Given the description of an element on the screen output the (x, y) to click on. 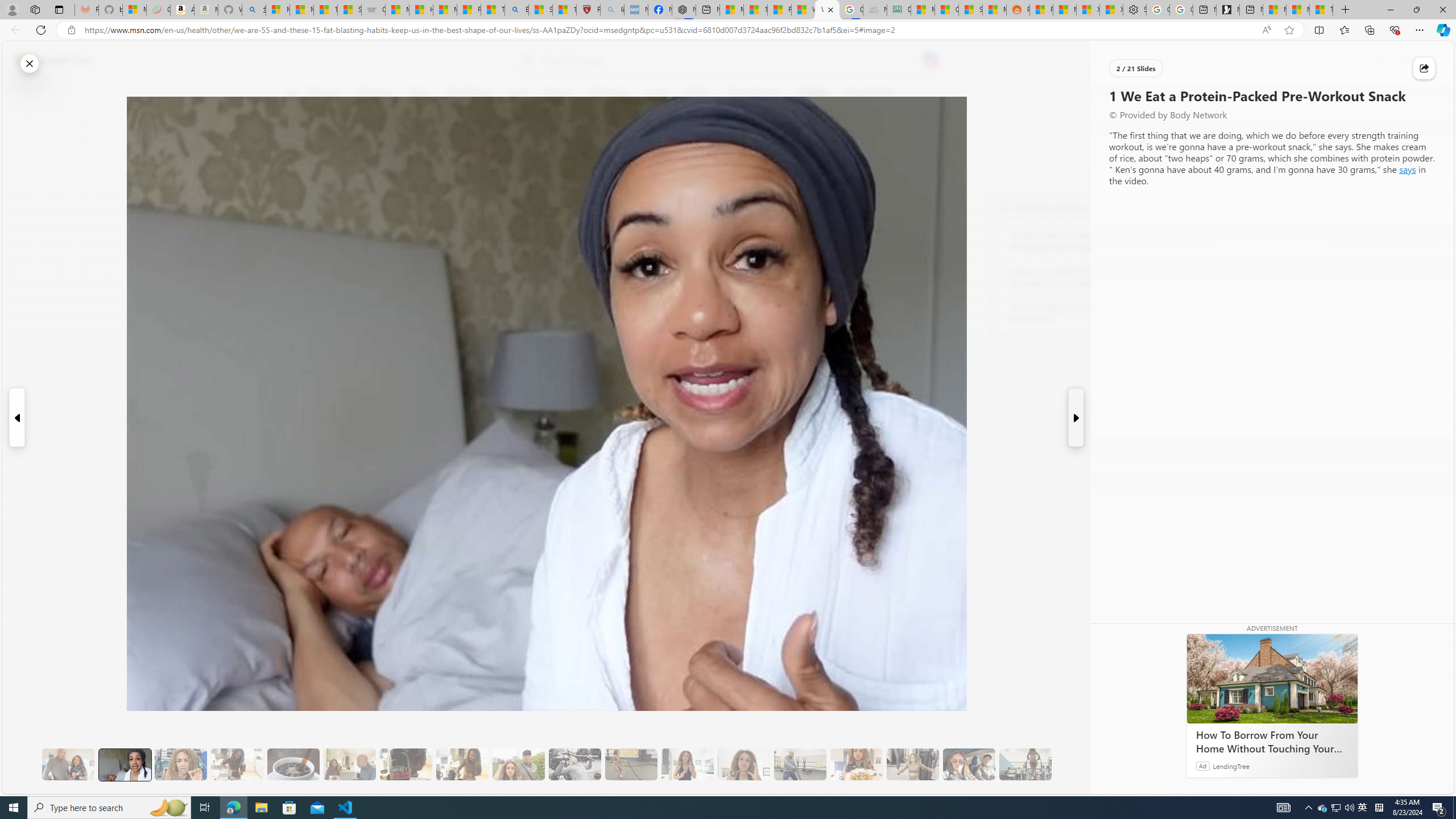
1 We Eat a Protein-Packed Pre-Workout Snack (124, 764)
Stocks - MSN (970, 9)
Politics (697, 92)
Science (557, 92)
Web search (526, 60)
Class: at-item immersive (1423, 68)
Politics (698, 92)
